Given the description of an element on the screen output the (x, y) to click on. 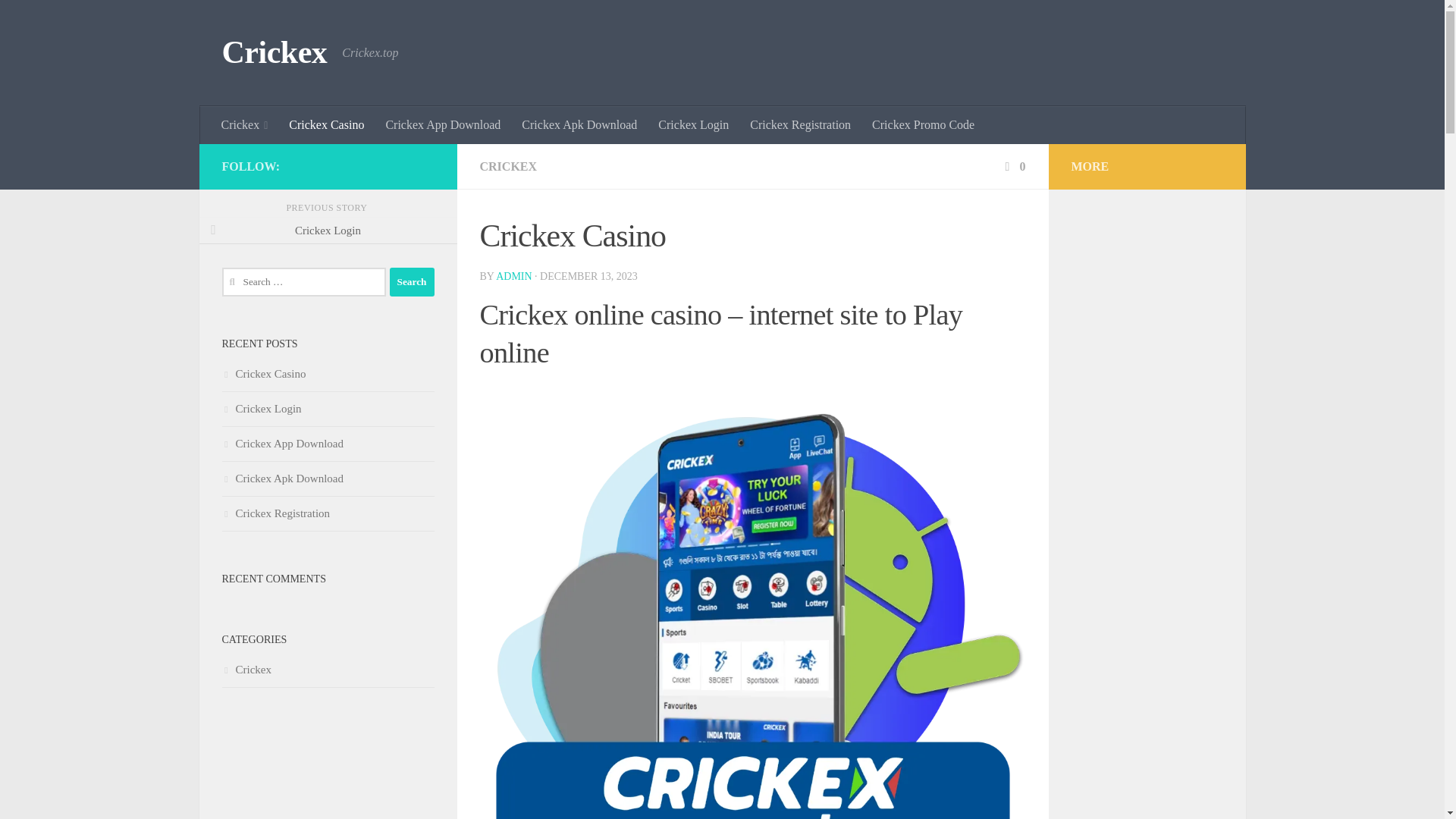
Crickex (273, 53)
Skip to content (59, 20)
0 (1013, 165)
Crickex App Download (442, 125)
Crickex Casino (326, 125)
Crickex Login (693, 125)
Crickex Apk Download (579, 125)
Search (411, 281)
Crickex (245, 125)
CRICKEX (508, 165)
